Given the description of an element on the screen output the (x, y) to click on. 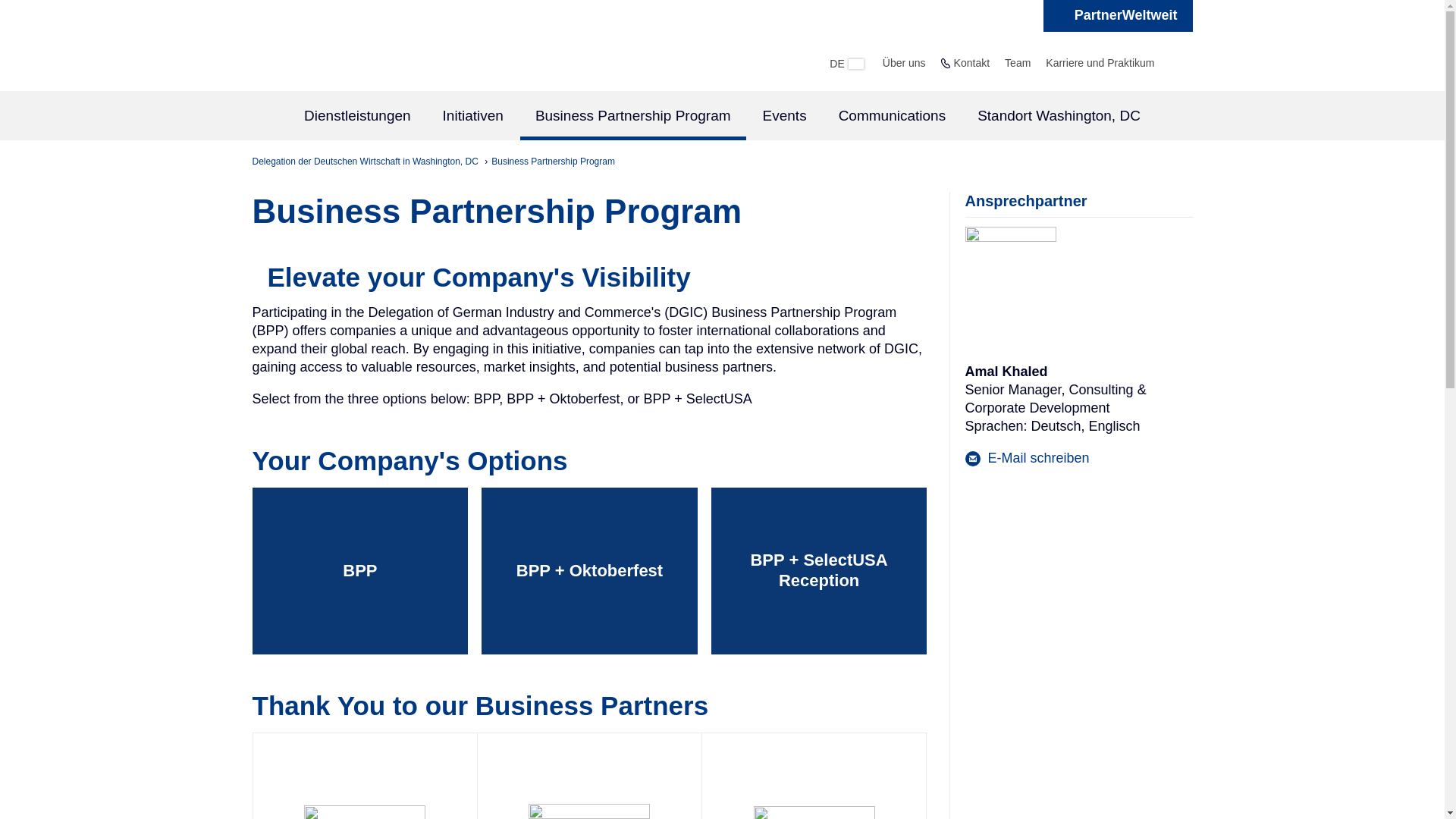
Team (1017, 62)
Business Partnership Program (553, 161)
Kontakt (971, 62)
Print (814, 812)
PartnerWeltweit (1117, 15)
Delegation der Deutschen Wirtschaft in Washington, DC (365, 161)
RGB (588, 811)
suchen (1177, 61)
Dienstleistungen (357, 115)
Main (721, 117)
Hashtag (1117, 15)
Karriere und Praktikum (1099, 62)
